Given the description of an element on the screen output the (x, y) to click on. 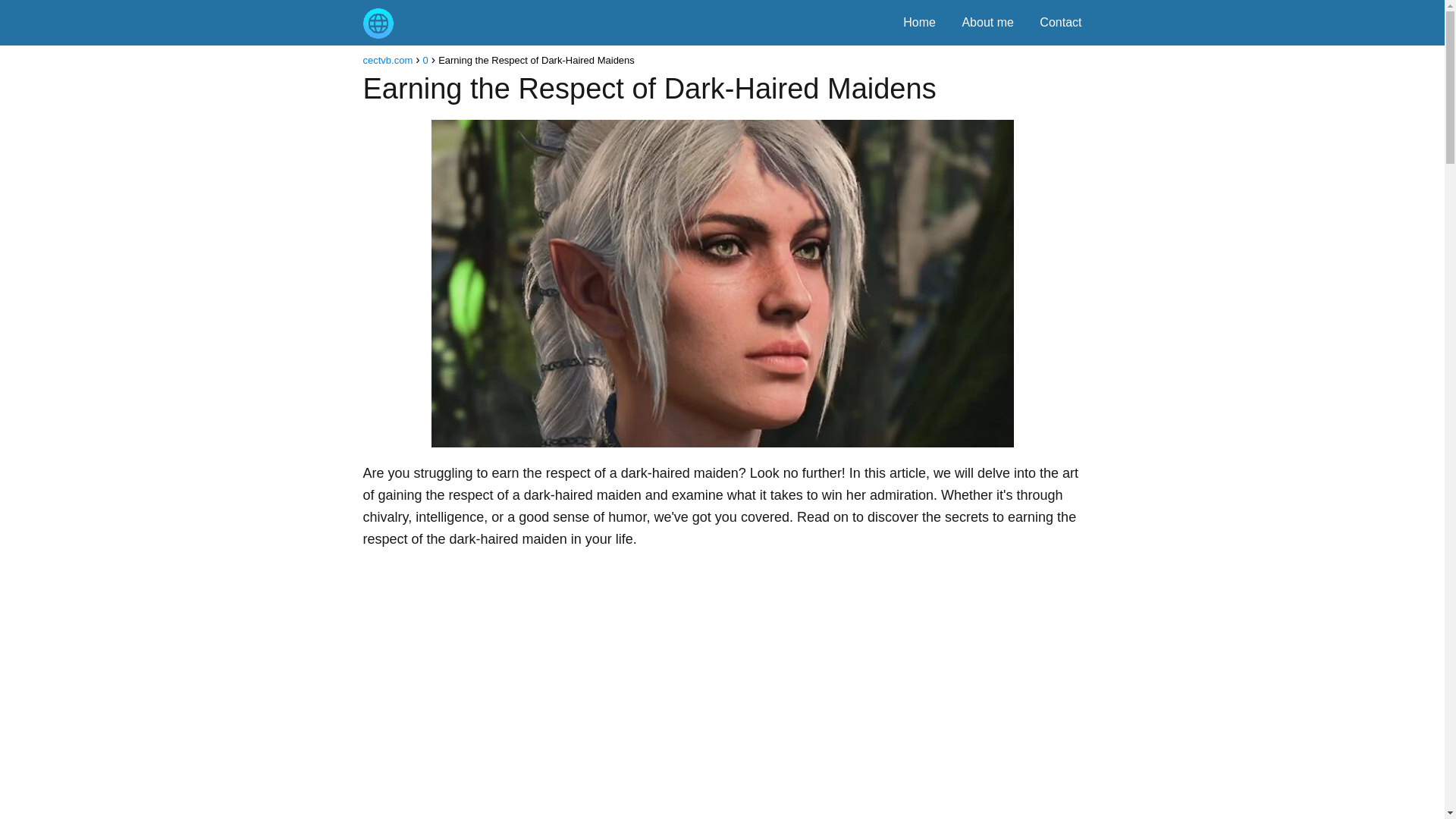
Home (919, 21)
Contact (1060, 21)
cectvb.com (387, 60)
About me (986, 21)
